Given the description of an element on the screen output the (x, y) to click on. 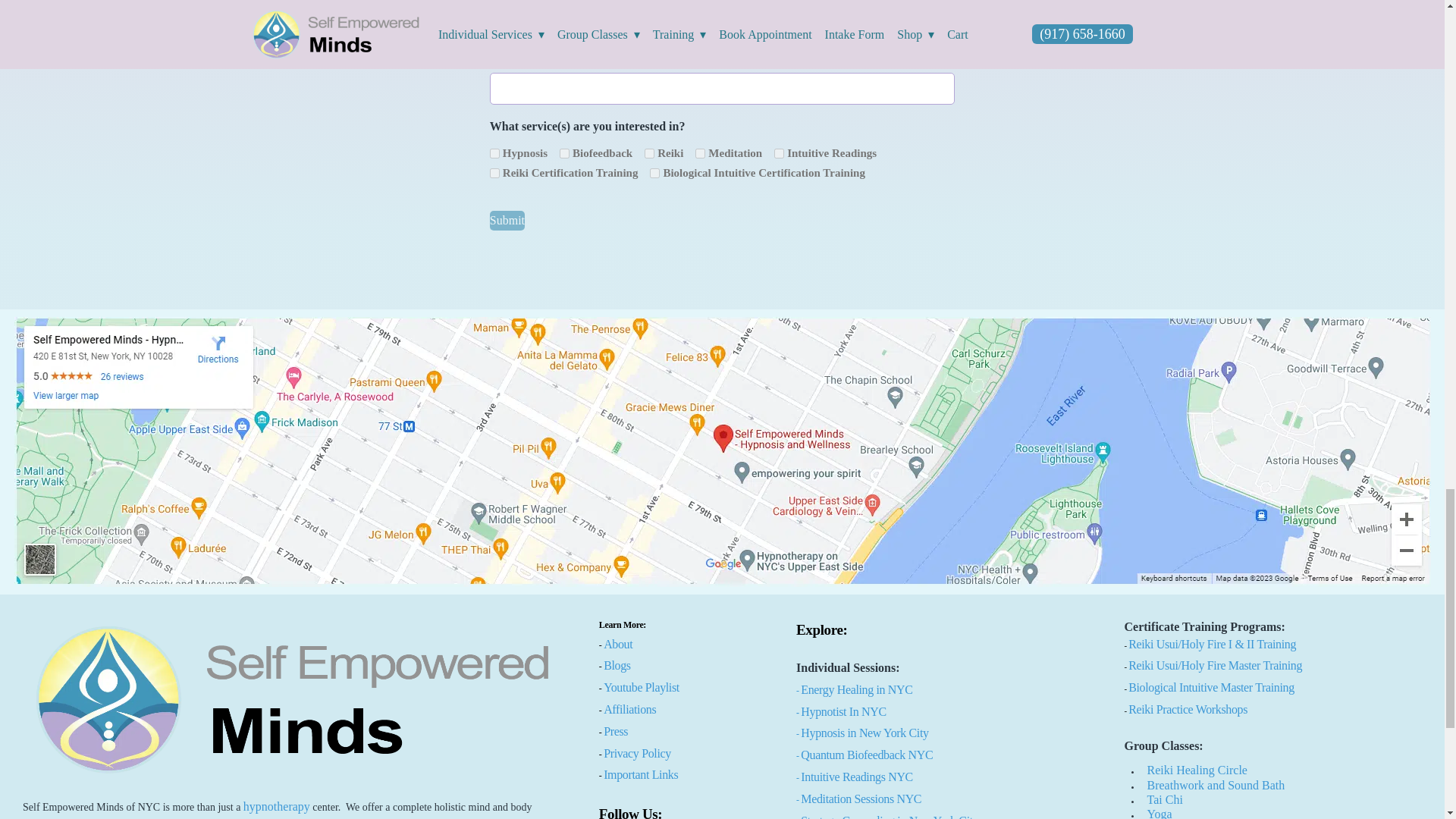
Meditation (699, 153)
Biofeedback (564, 153)
Hypnosis (494, 153)
Reiki (649, 153)
Intuitive Readings (779, 153)
About (617, 644)
Submit (506, 220)
Reiki Certification Training (494, 173)
Biological Intuitive Certification Training (654, 173)
